Given the description of an element on the screen output the (x, y) to click on. 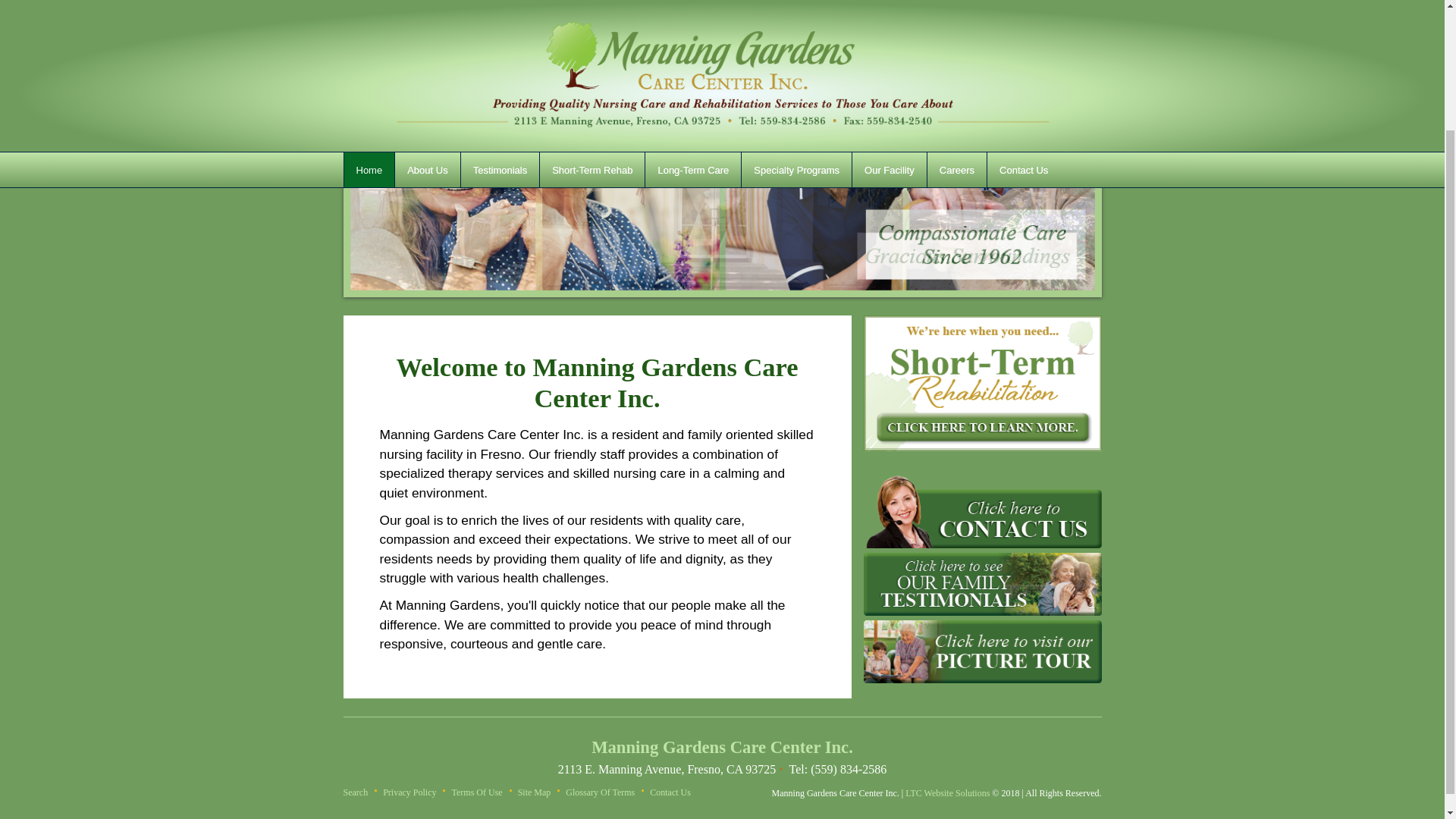
Home (368, 21)
Long-Term Care (693, 21)
Specialty Programs (796, 21)
About Us (427, 21)
Testimonials (500, 21)
Short-Term Rehab (592, 21)
